Given the description of an element on the screen output the (x, y) to click on. 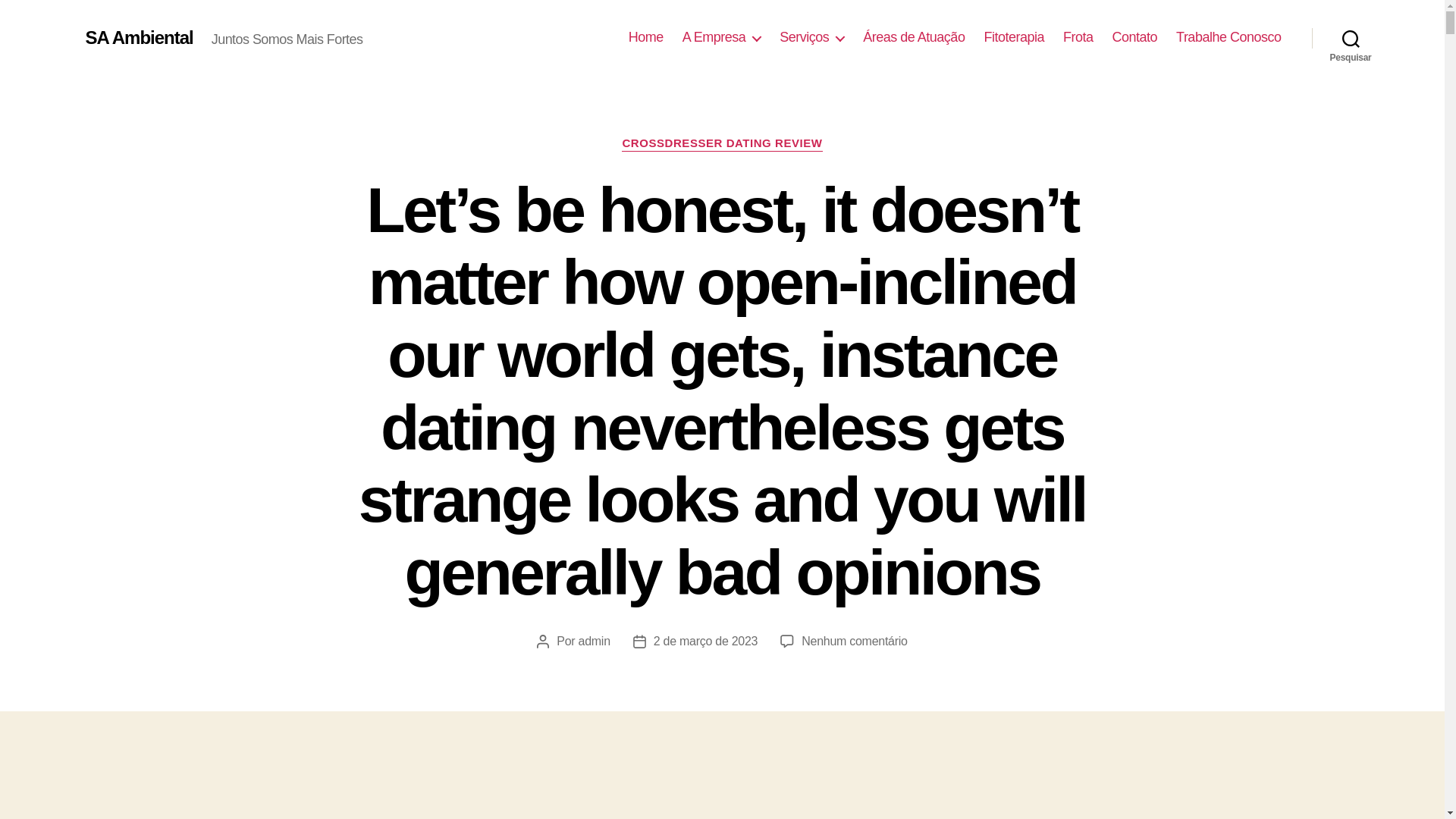
Trabalhe Conosco (1228, 37)
SA Ambiental (138, 37)
Home (645, 37)
Fitoterapia (1013, 37)
Frota (1077, 37)
Contato (1134, 37)
A Empresa (721, 37)
Pesquisar (1350, 37)
